Given the description of an element on the screen output the (x, y) to click on. 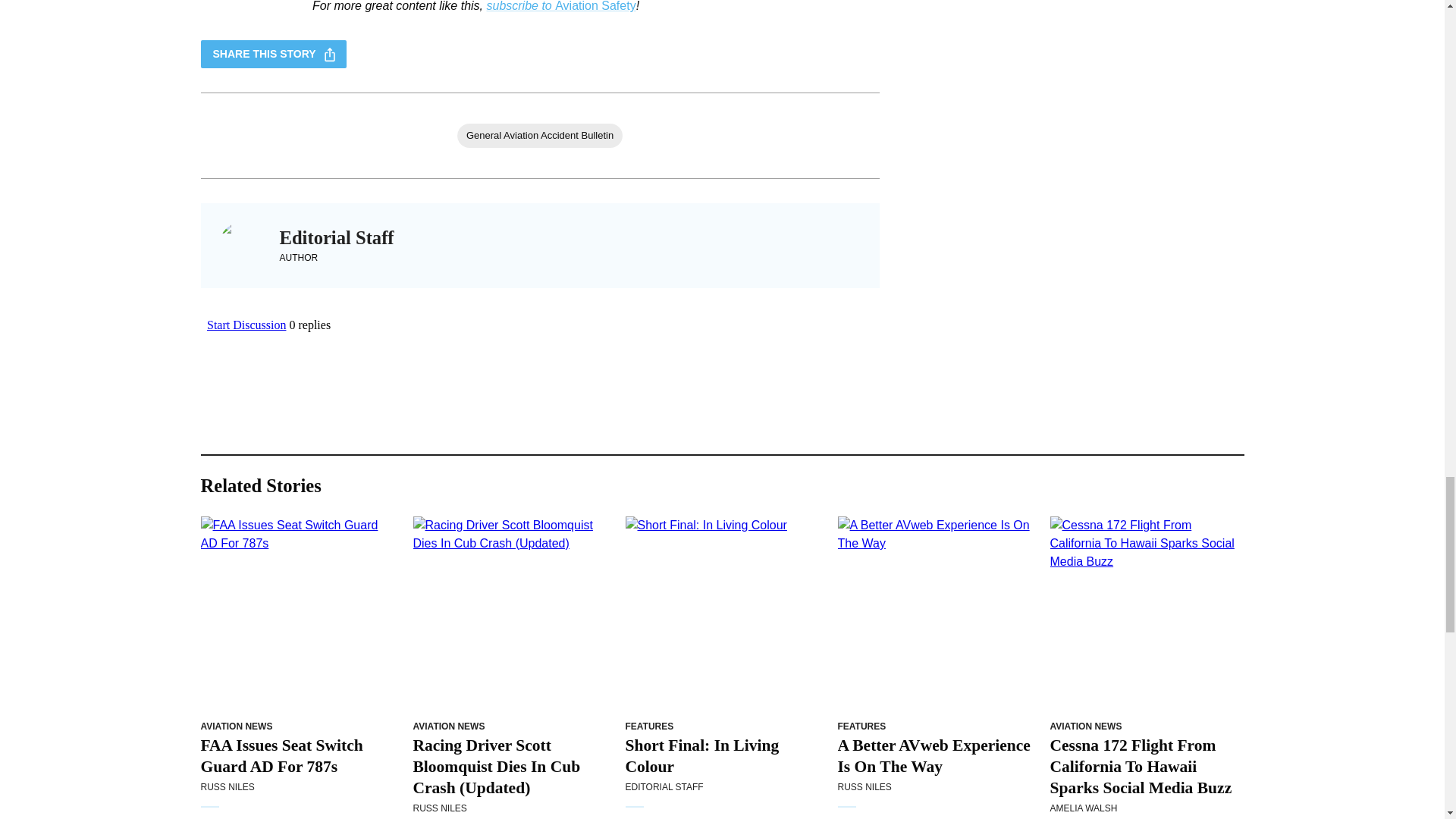
subscribe to (520, 6)
Aviation Safety (594, 6)
General Aviation Accident Bulletin (540, 135)
Editorial Staff (336, 238)
FAA Issues Seat Switch Guard AD For 787s (297, 613)
SHARE THIS STORY (273, 53)
A Better AVweb Experience Is On The Way (933, 613)
Short Final: In Living Colour (721, 613)
